Given the description of an element on the screen output the (x, y) to click on. 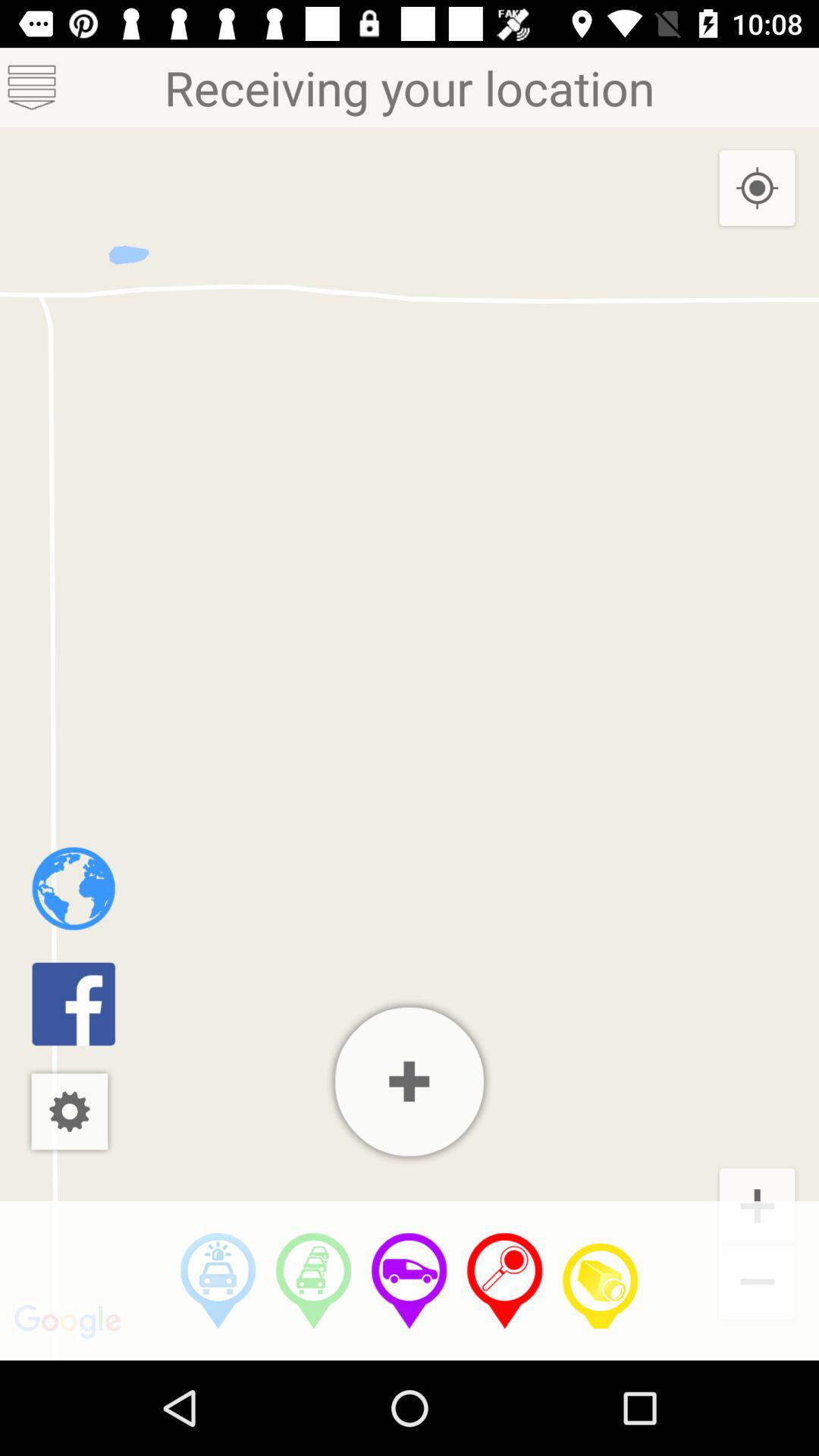
driving directions (218, 1280)
